Given the description of an element on the screen output the (x, y) to click on. 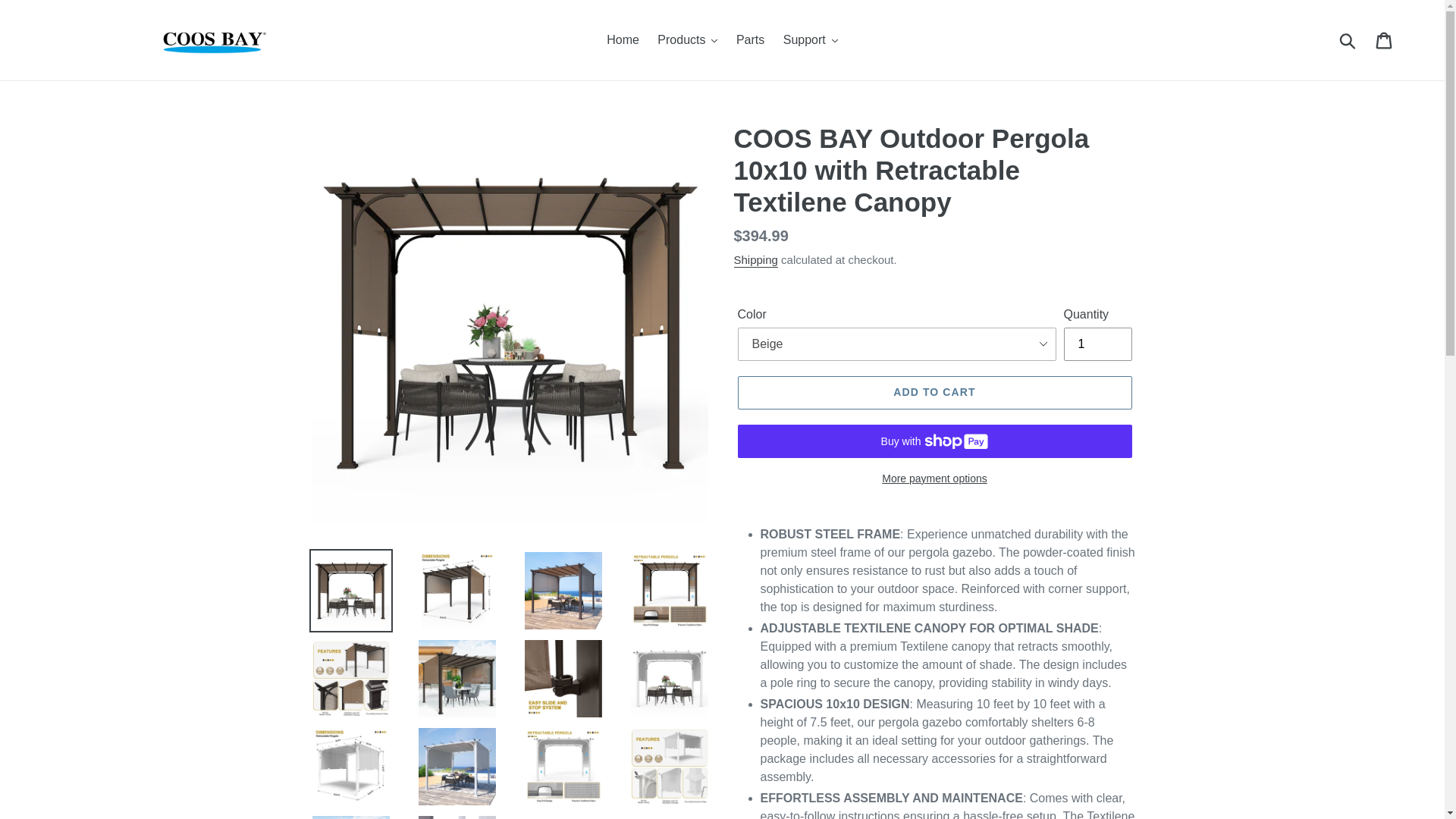
Parts (750, 39)
Cart (1385, 39)
Submit (1348, 39)
1 (1096, 344)
Home (622, 39)
